Given the description of an element on the screen output the (x, y) to click on. 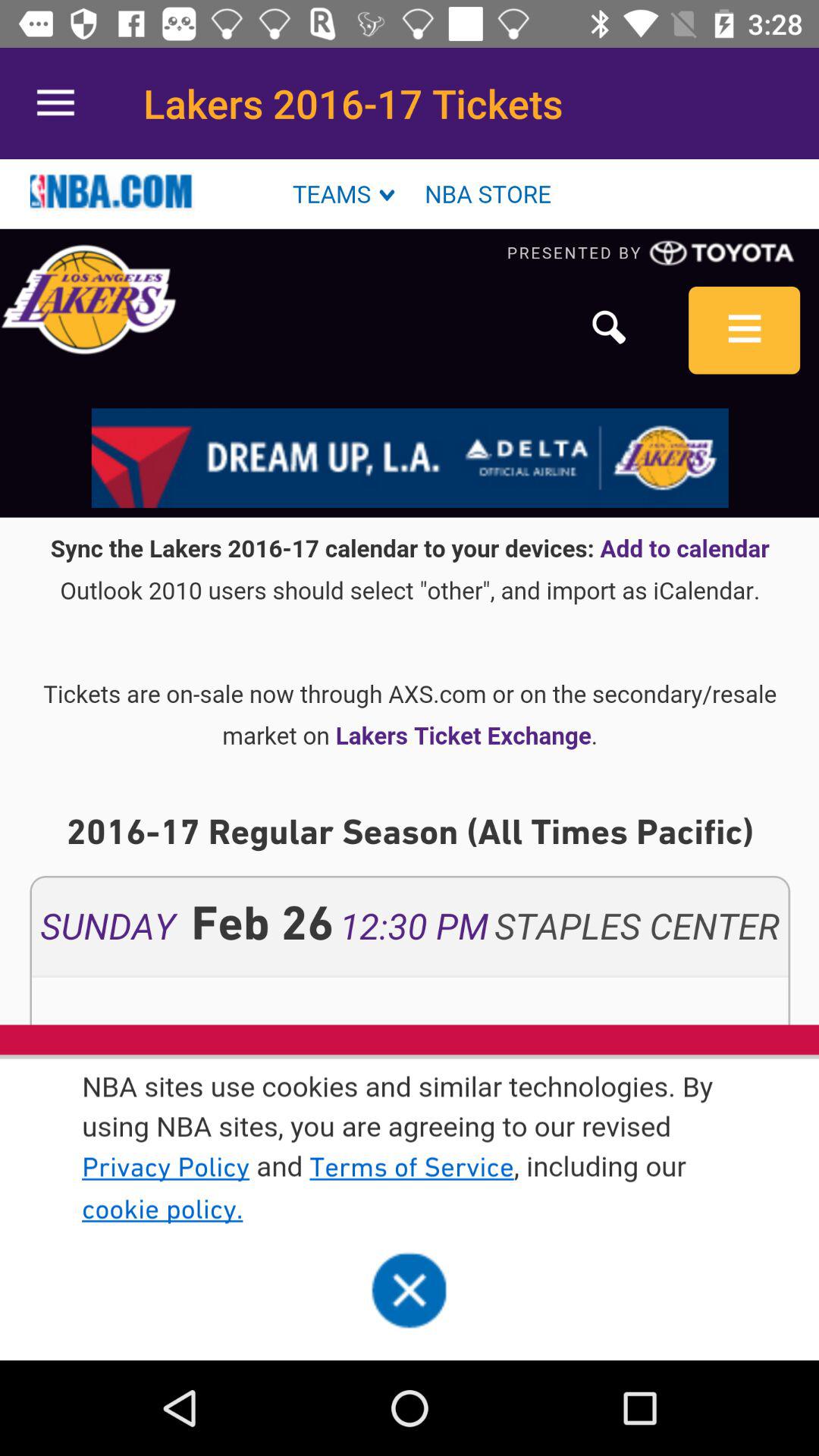
color print (409, 759)
